Given the description of an element on the screen output the (x, y) to click on. 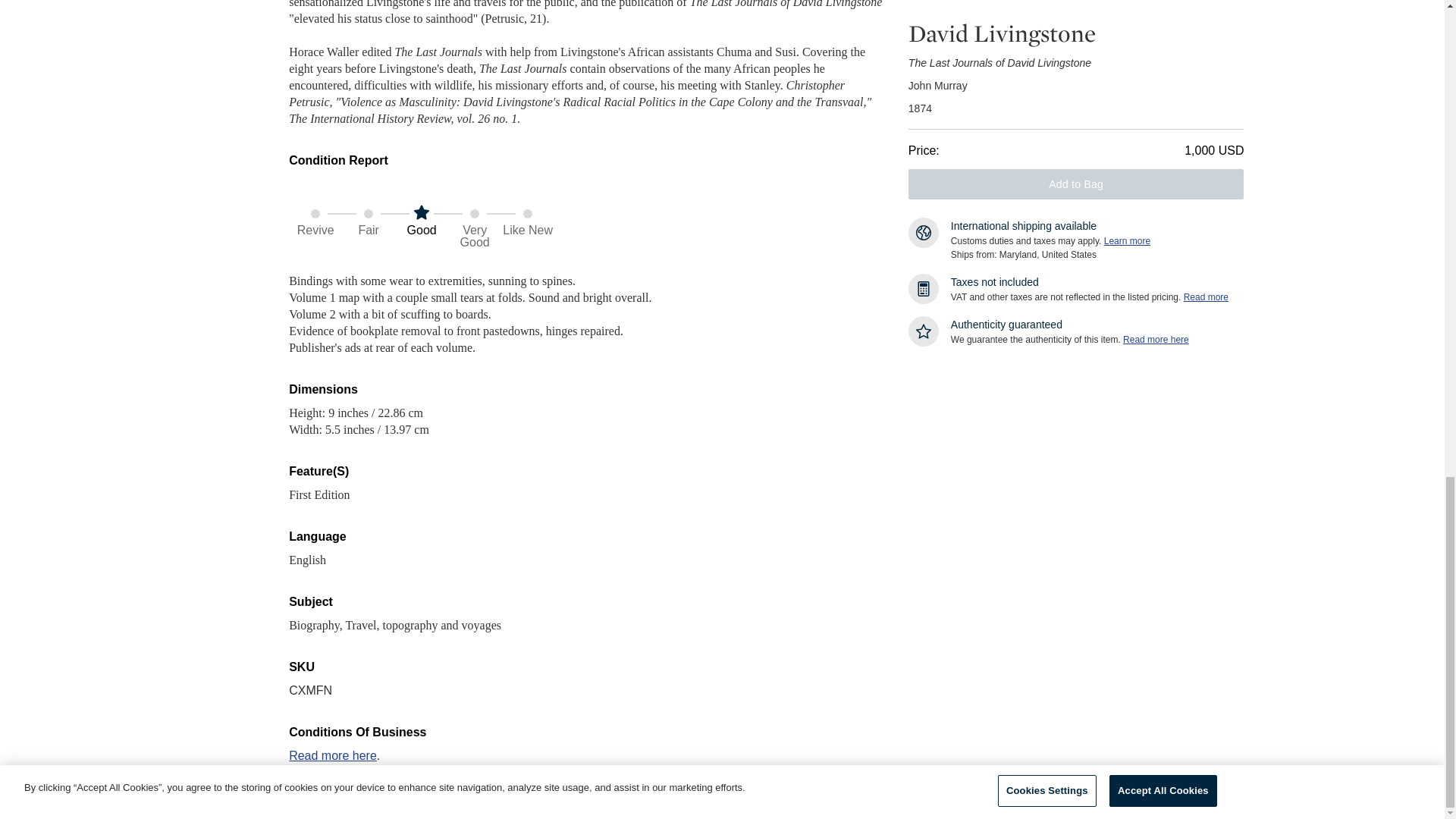
Read more here (332, 755)
